Given the description of an element on the screen output the (x, y) to click on. 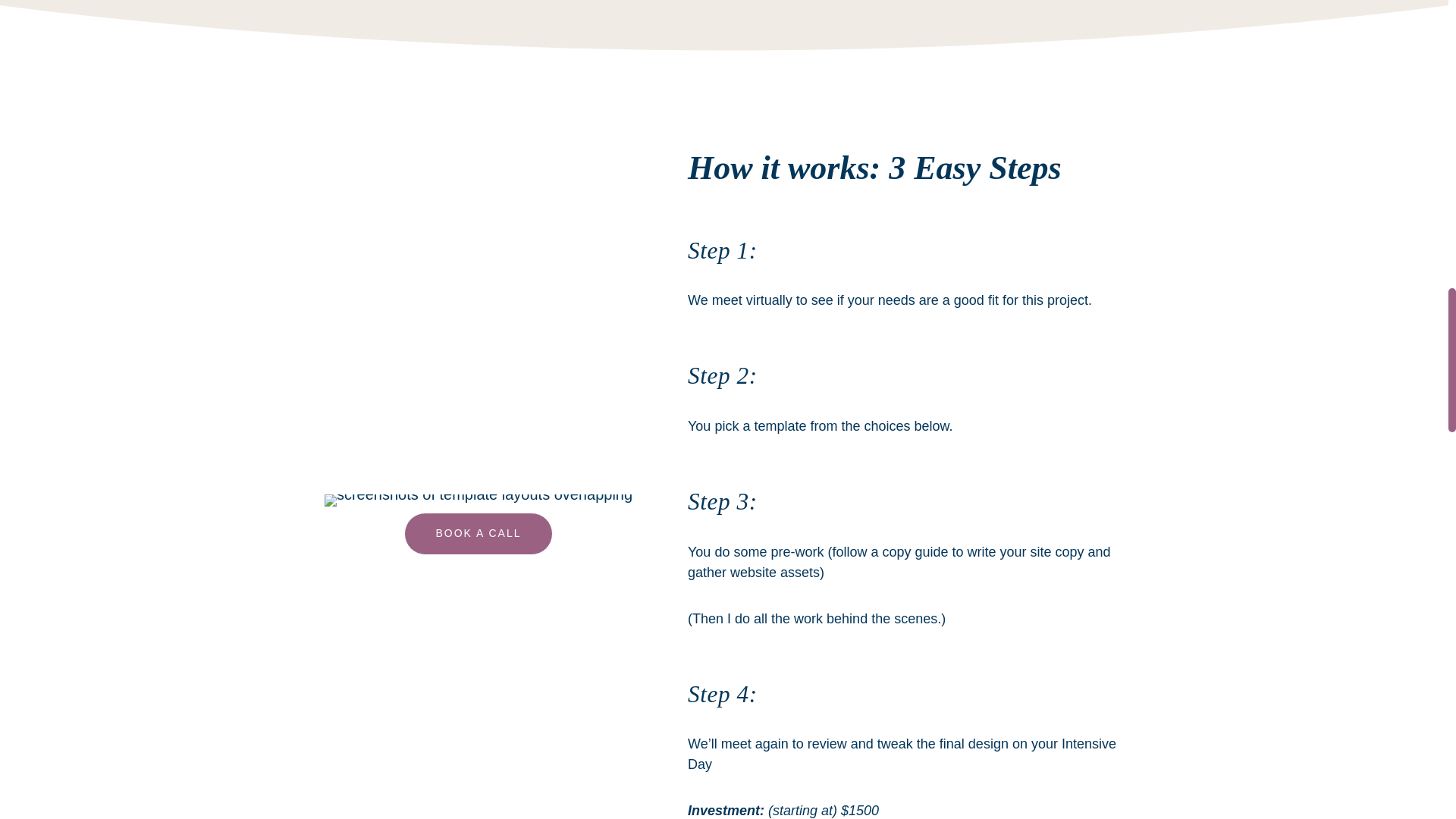
fan of layouts (477, 500)
BOOK A CALL (477, 533)
